Given the description of an element on the screen output the (x, y) to click on. 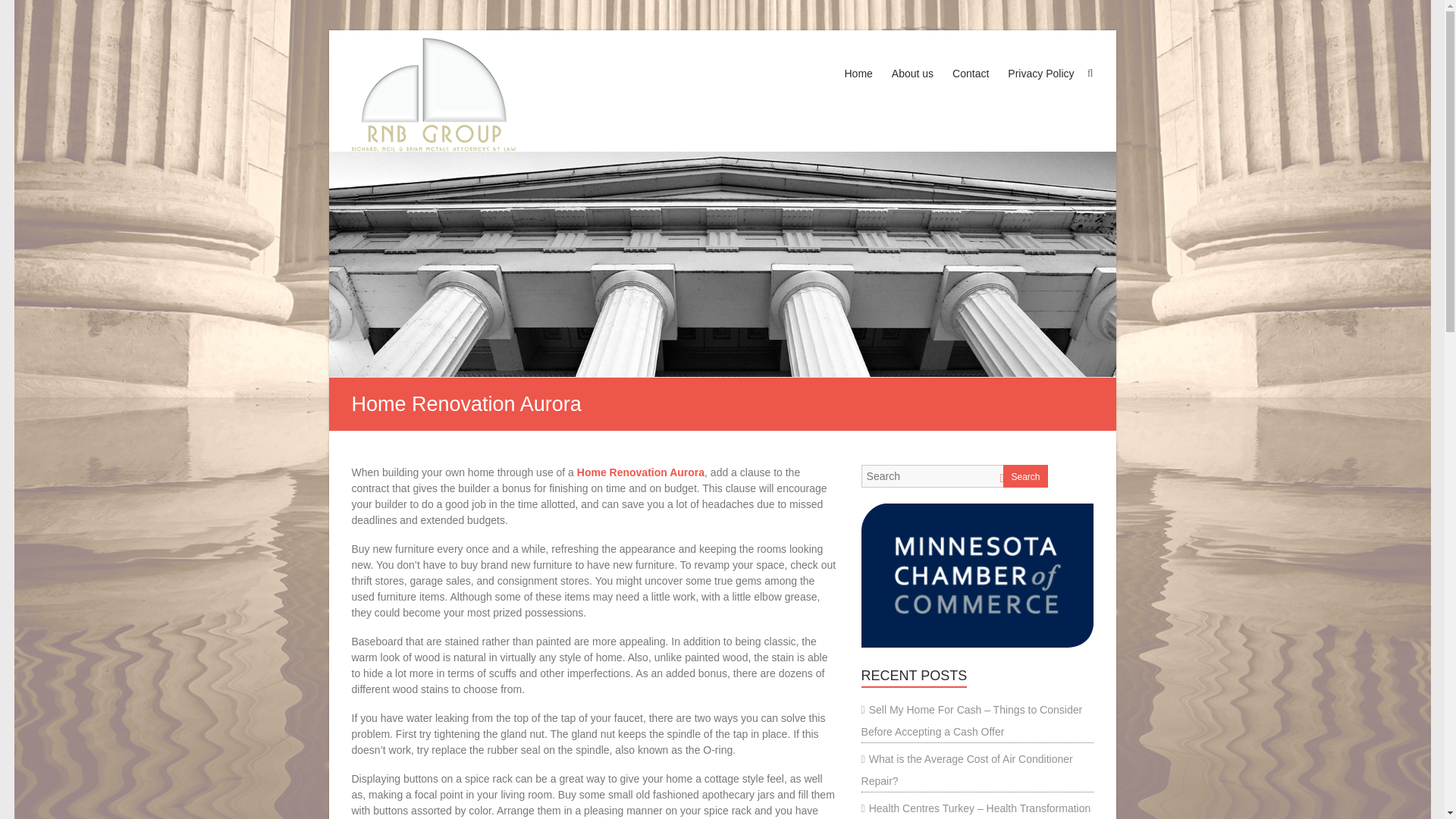
Privacy Policy (1040, 87)
What is the Average Cost of Air Conditioner Repair? (967, 769)
Search (1024, 476)
Home Renovation Aurora (640, 472)
RNB Group (433, 94)
Search (21, 11)
